Given the description of an element on the screen output the (x, y) to click on. 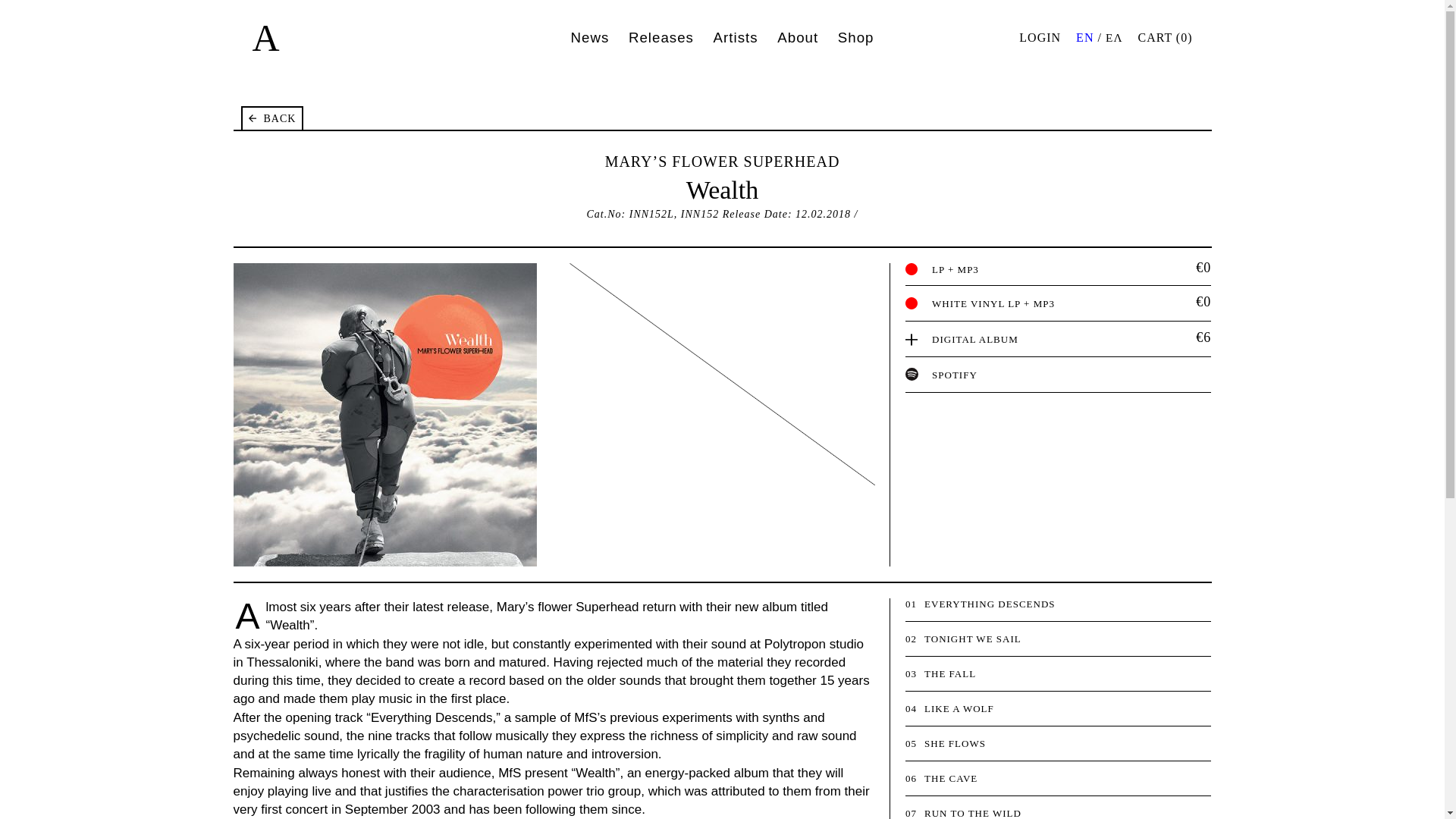
Shop (856, 36)
Login (1040, 37)
News (589, 36)
Releases (661, 36)
BACK (272, 117)
A (265, 37)
View your shopping cart (1165, 37)
LOGIN (1040, 37)
Artists (735, 36)
About (797, 36)
